Given the description of an element on the screen output the (x, y) to click on. 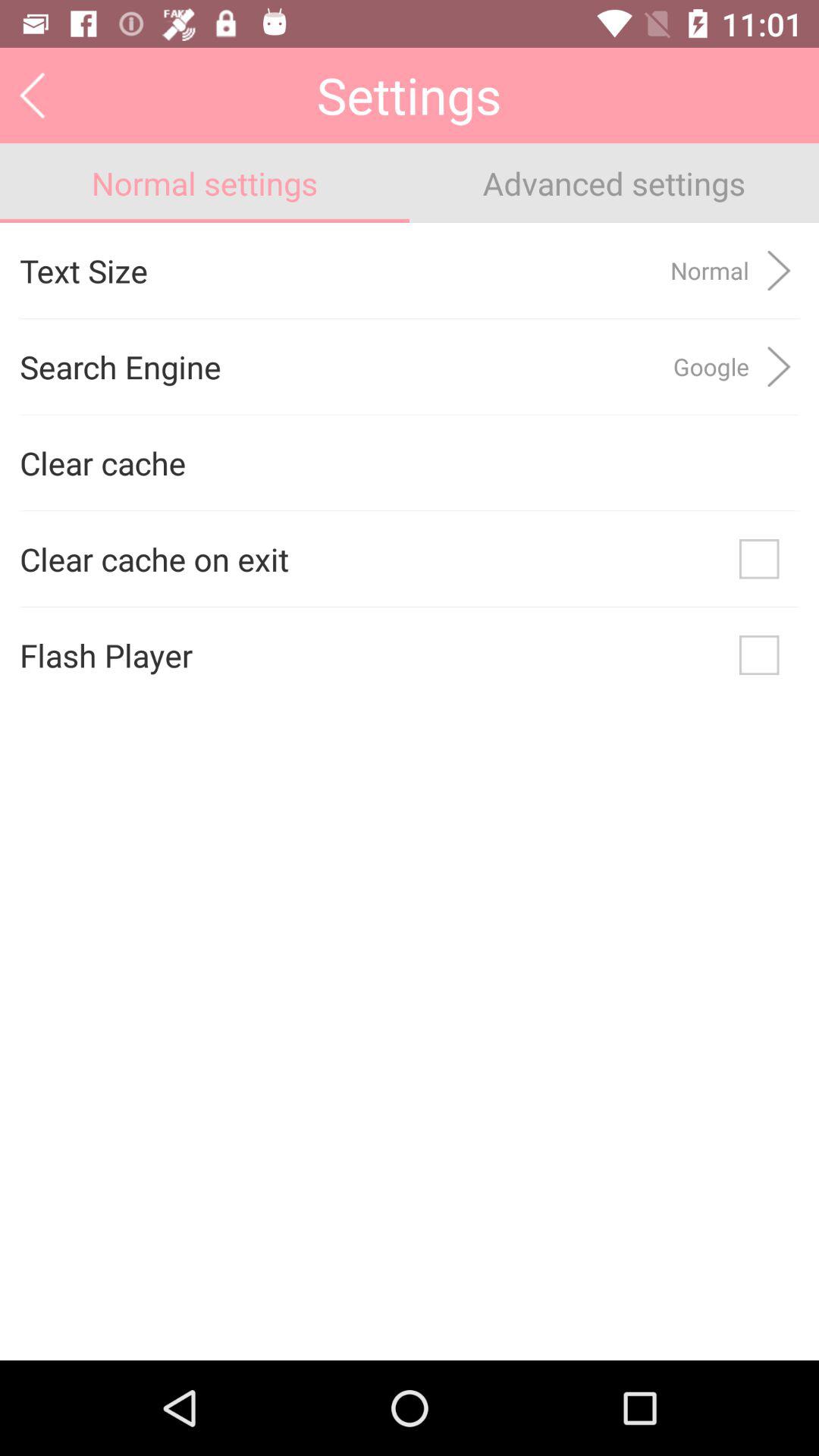
open the icon next to the clear cache on item (759, 558)
